Given the description of an element on the screen output the (x, y) to click on. 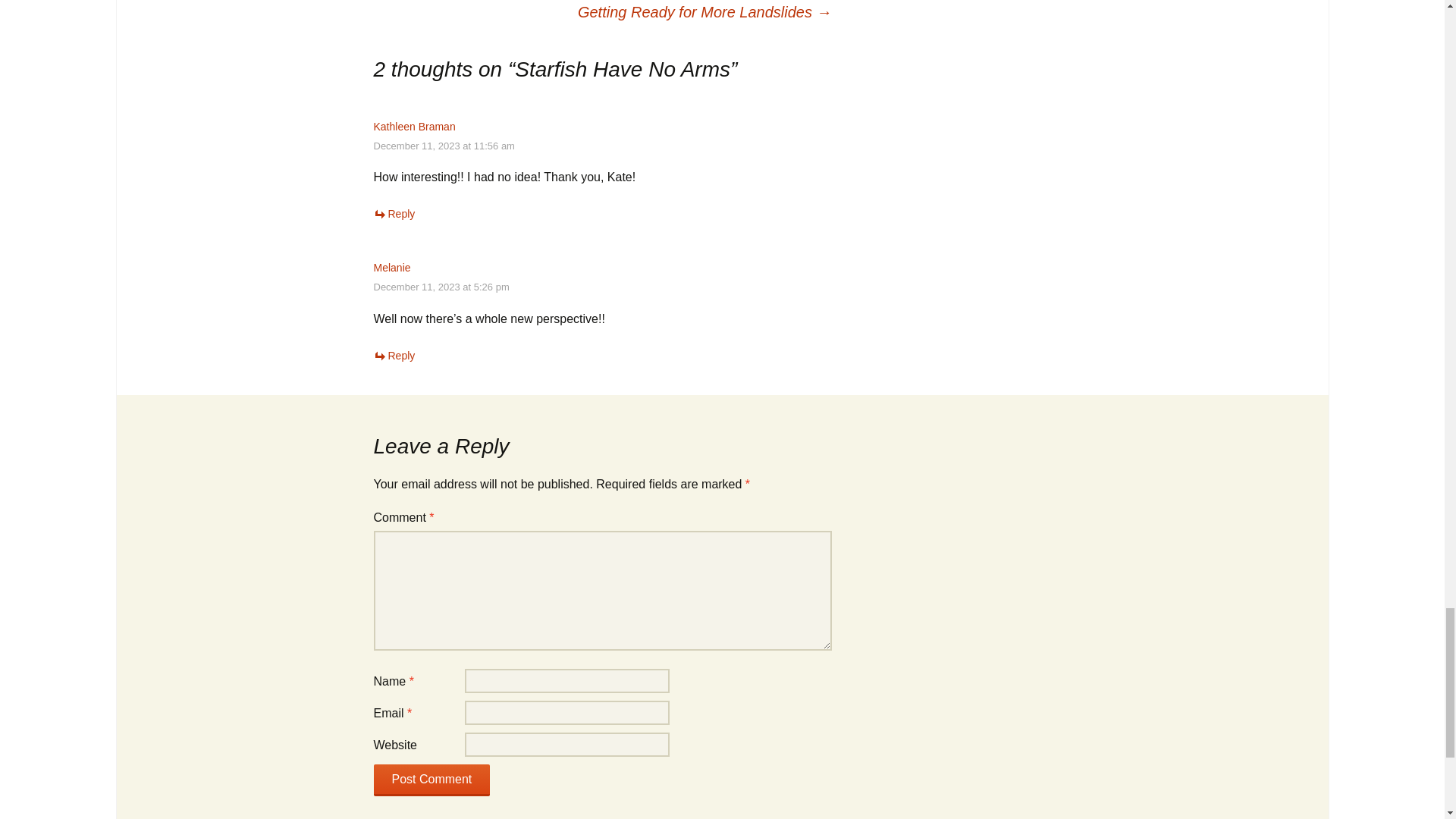
Reply (393, 214)
Post Comment (430, 780)
December 11, 2023 at 11:56 am (442, 145)
Post Comment (430, 780)
December 11, 2023 at 5:26 pm (440, 286)
Reply (393, 355)
